Given the description of an element on the screen output the (x, y) to click on. 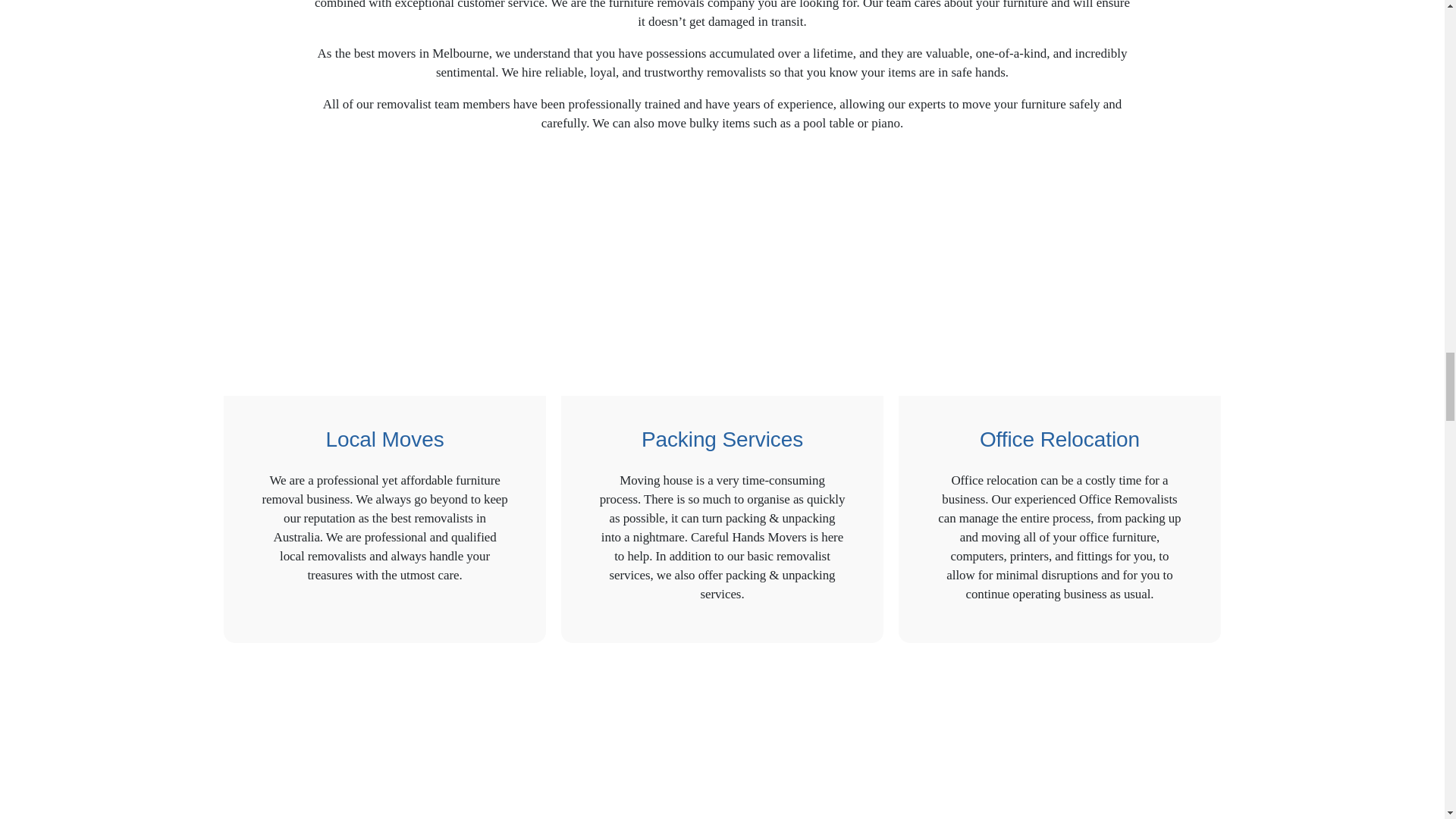
Removals Storage (1059, 738)
Local Moves (385, 282)
Commercial Move (721, 738)
Packing Services (721, 282)
Interstate Moves (385, 738)
Office Relocation (1059, 282)
